Given the description of an element on the screen output the (x, y) to click on. 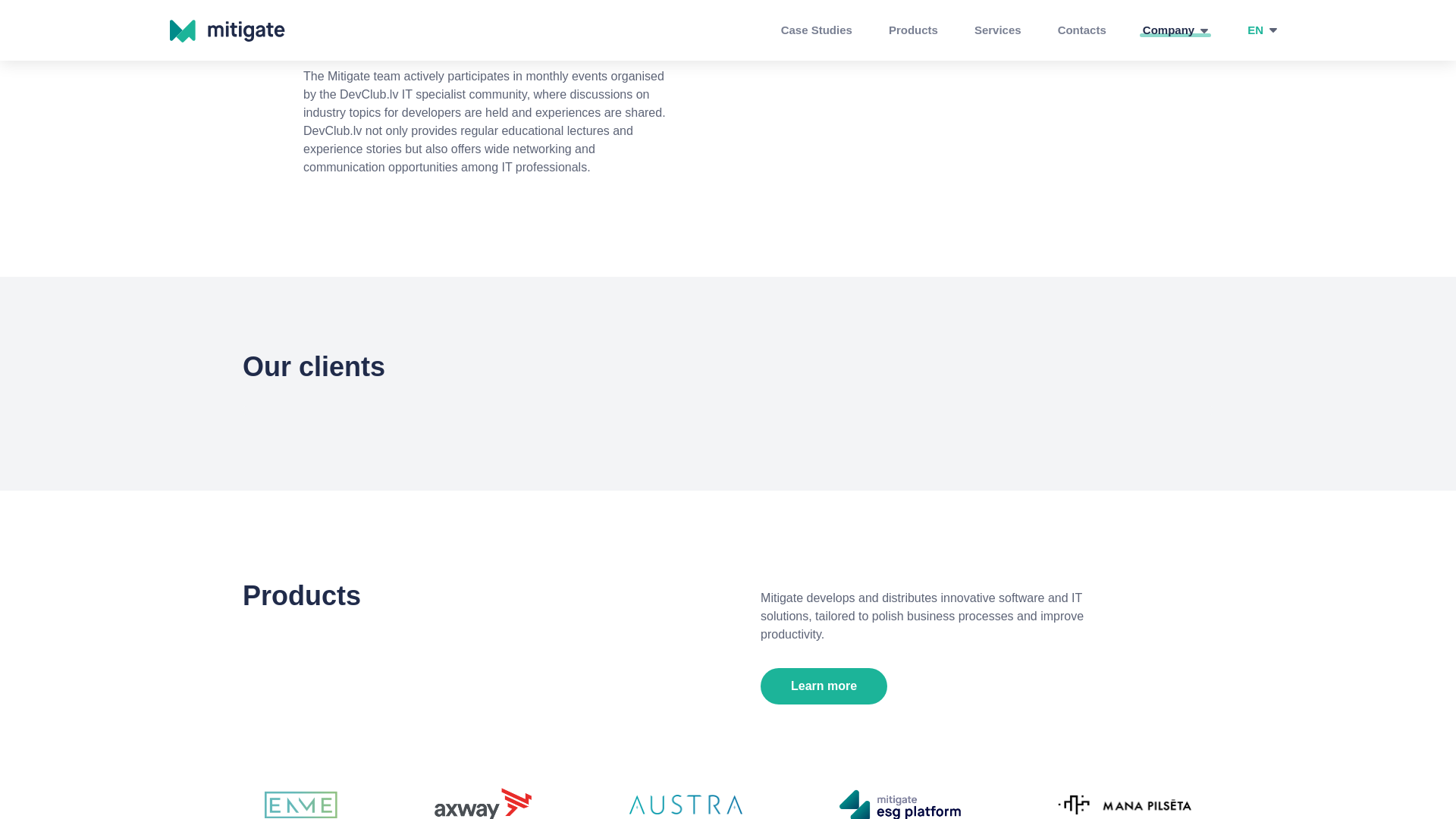
Learn more (823, 686)
